Given the description of an element on the screen output the (x, y) to click on. 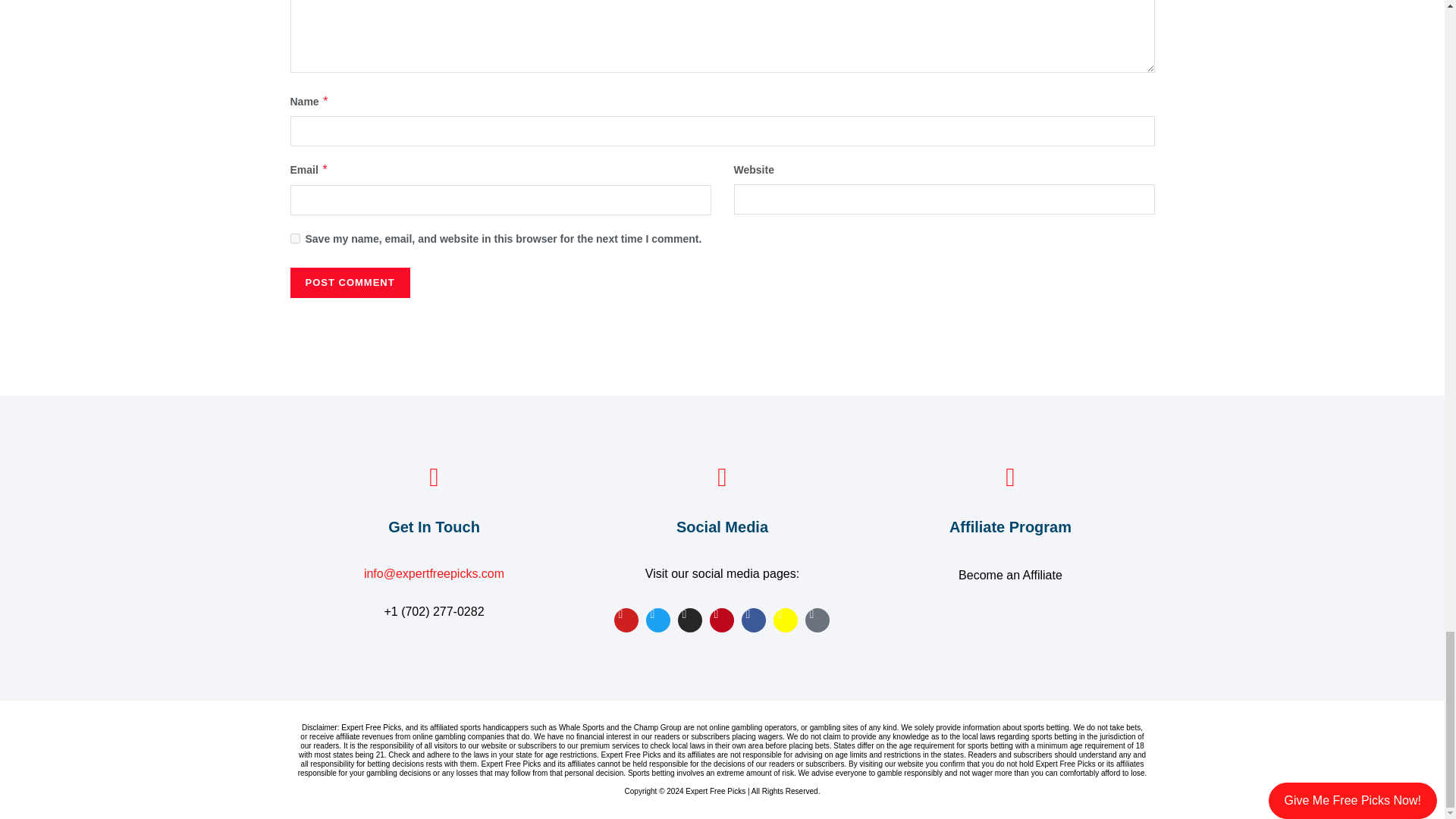
Post Comment (349, 282)
Post Comment (349, 282)
yes (294, 238)
